Given the description of an element on the screen output the (x, y) to click on. 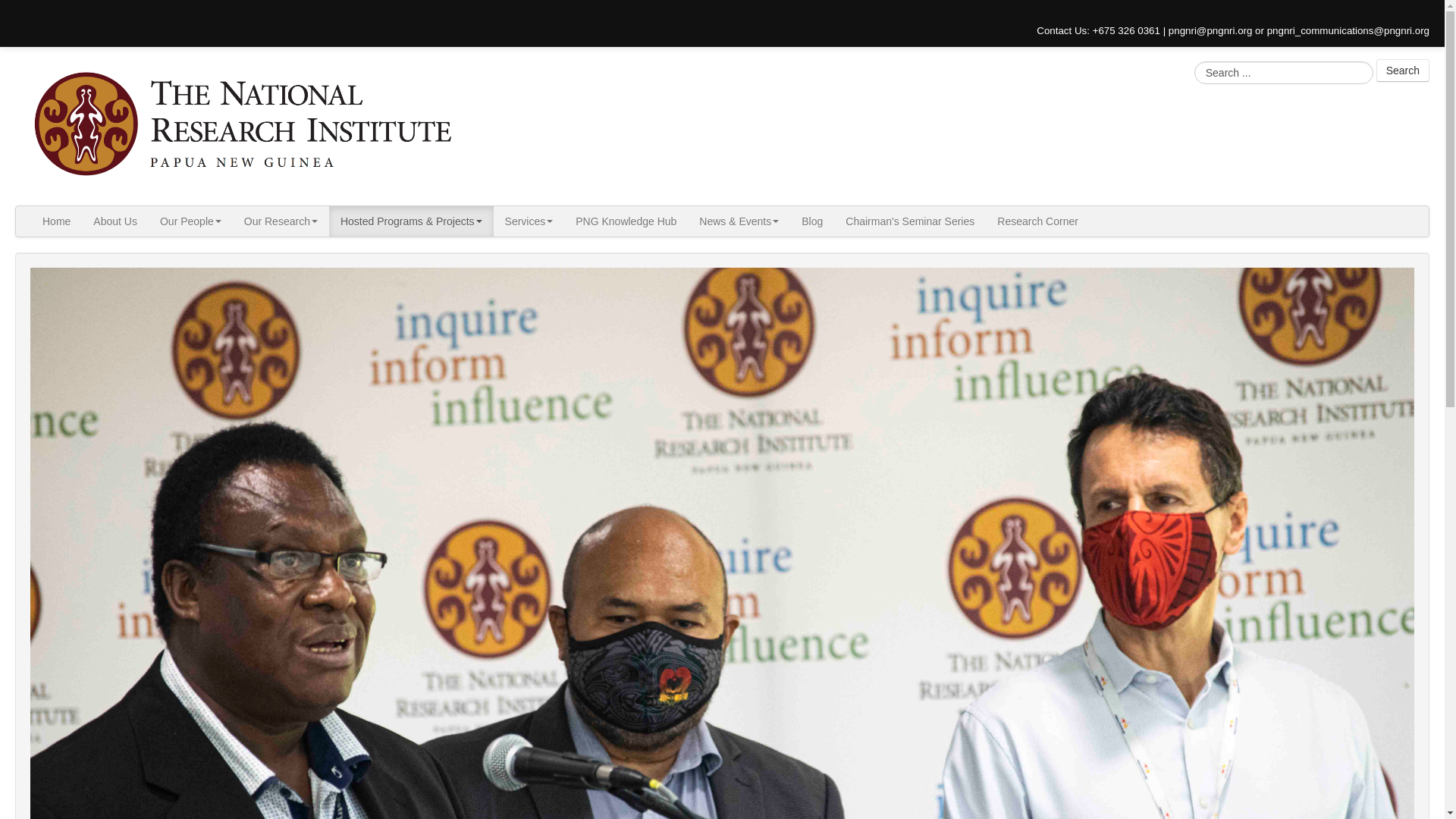
Services (528, 221)
Search ... (1283, 71)
About Us (114, 221)
Search (1402, 69)
PNG Knowledge Hub (625, 221)
Our People (190, 221)
Search ... (1283, 71)
Home (55, 221)
Our Research (280, 221)
